Given the description of an element on the screen output the (x, y) to click on. 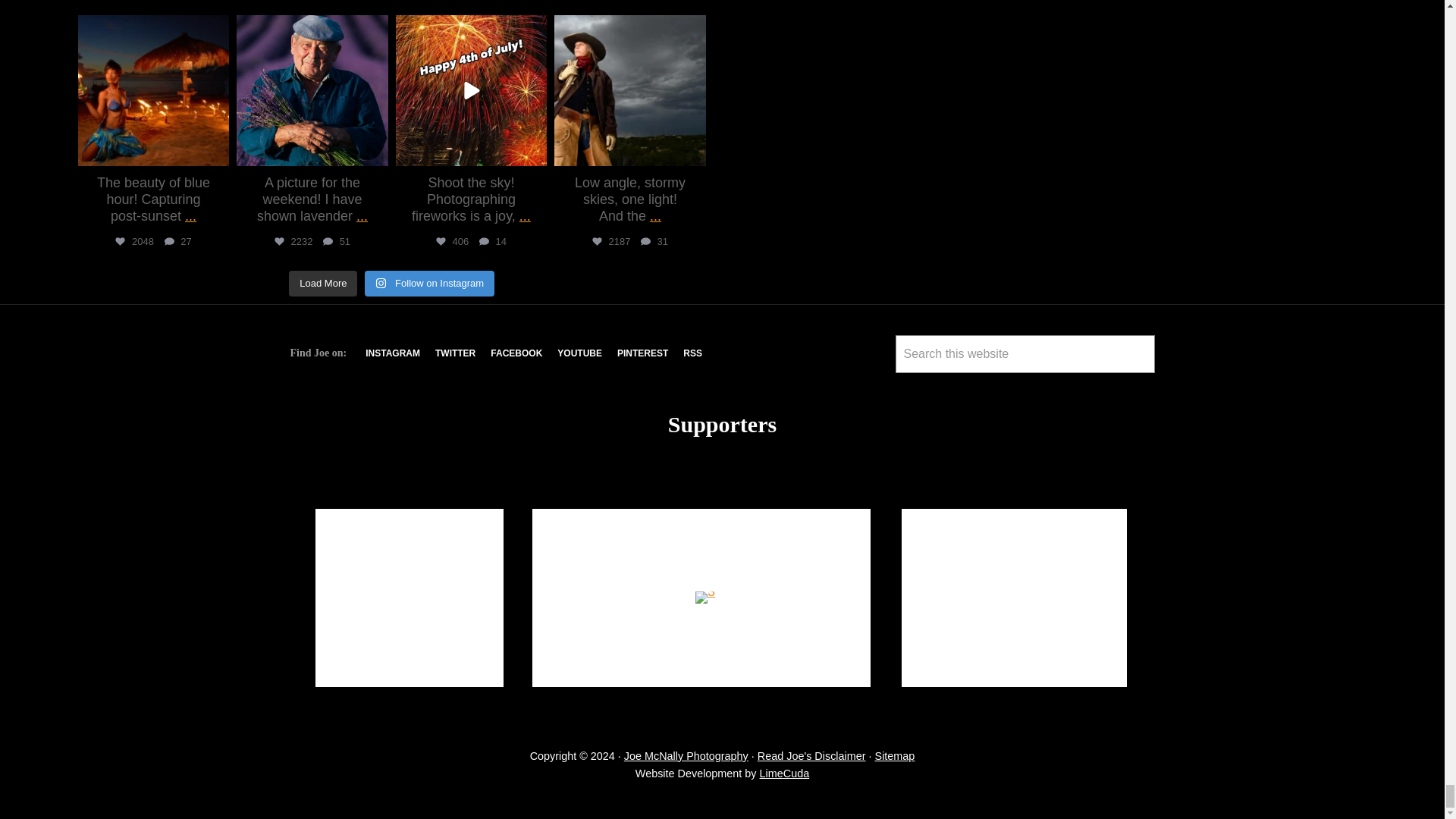
Search (913, 386)
Follow Joe on Instagram (392, 353)
Search (913, 386)
